Given the description of an element on the screen output the (x, y) to click on. 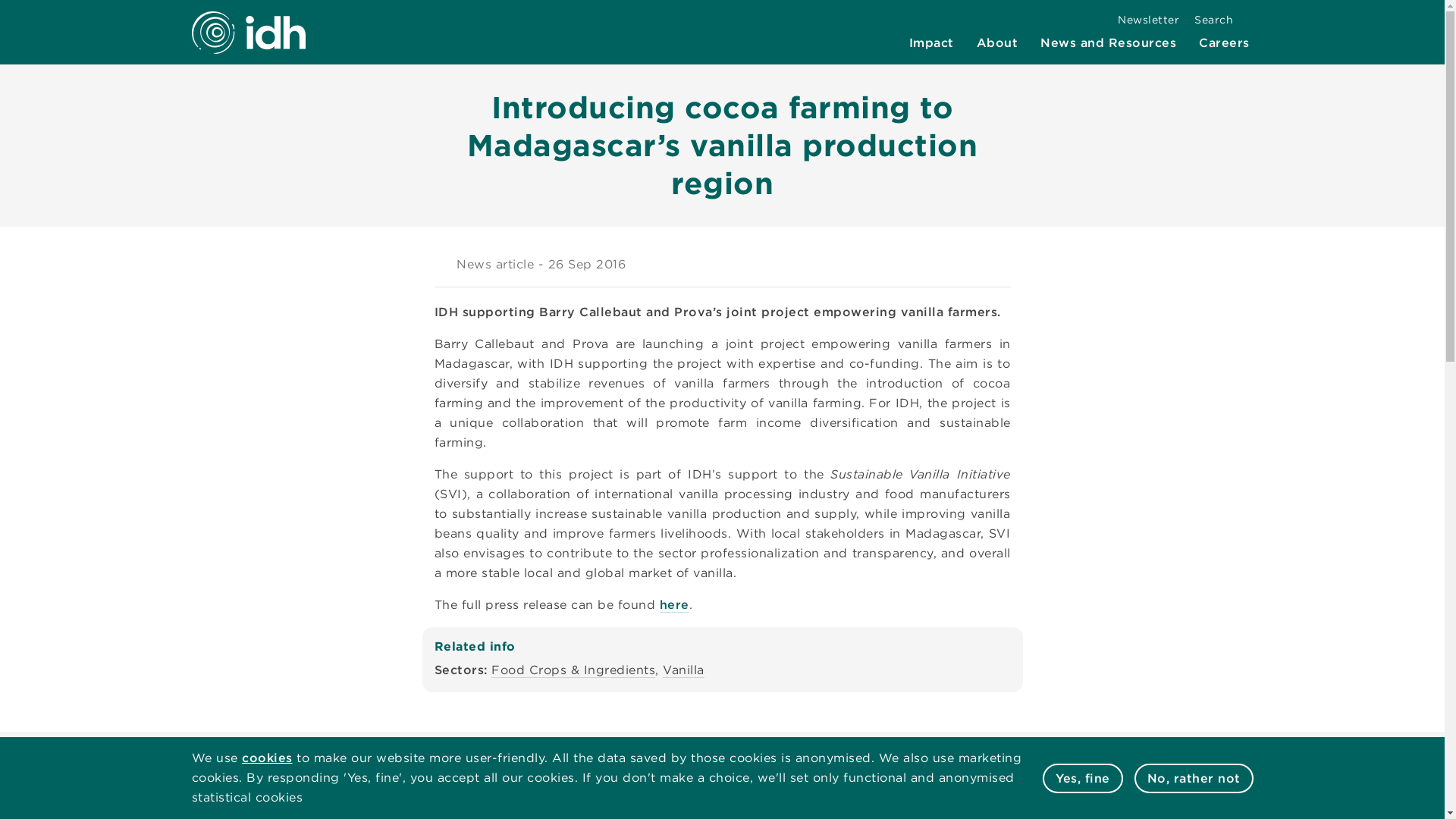
News and Resources (1107, 42)
Impact (930, 42)
here (673, 604)
Search (1221, 19)
Newsletter (1148, 19)
Vanilla (683, 670)
Share on LinkedIn (997, 263)
Careers (1224, 42)
Share on Twitter (944, 263)
IDH Logo (247, 32)
About (997, 42)
Share on Facebook (970, 263)
